Given the description of an element on the screen output the (x, y) to click on. 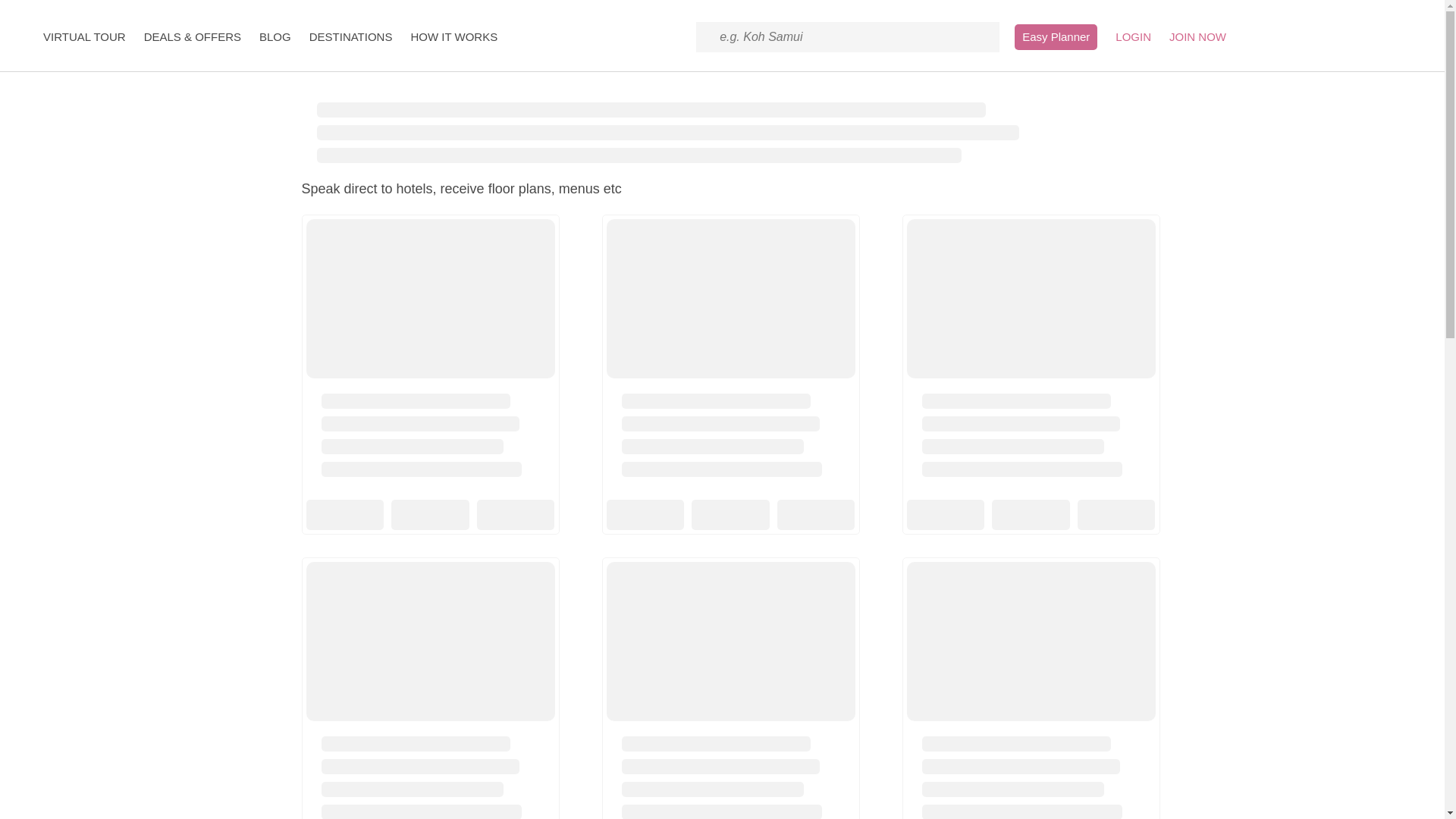
JOIN NOW (1197, 36)
Easy Planner (1055, 36)
BLOG (275, 36)
LOGIN (1133, 36)
DESTINATIONS (350, 36)
VIRTUAL TOUR (84, 36)
HOW IT WORKS (453, 36)
